Given the description of an element on the screen output the (x, y) to click on. 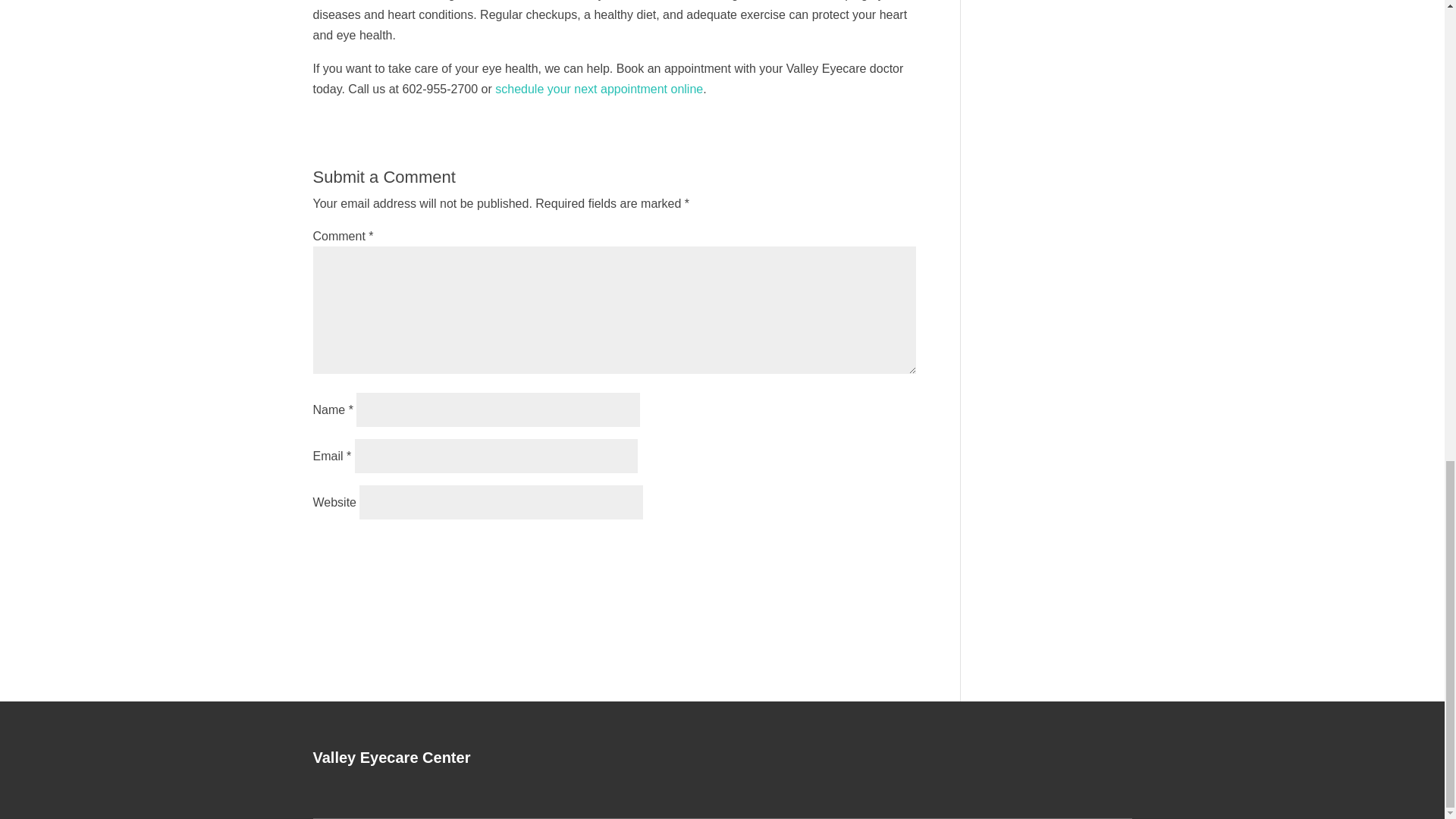
schedule your next appointment online (599, 88)
Submit Comment (840, 549)
Submit Comment (840, 549)
